Given the description of an element on the screen output the (x, y) to click on. 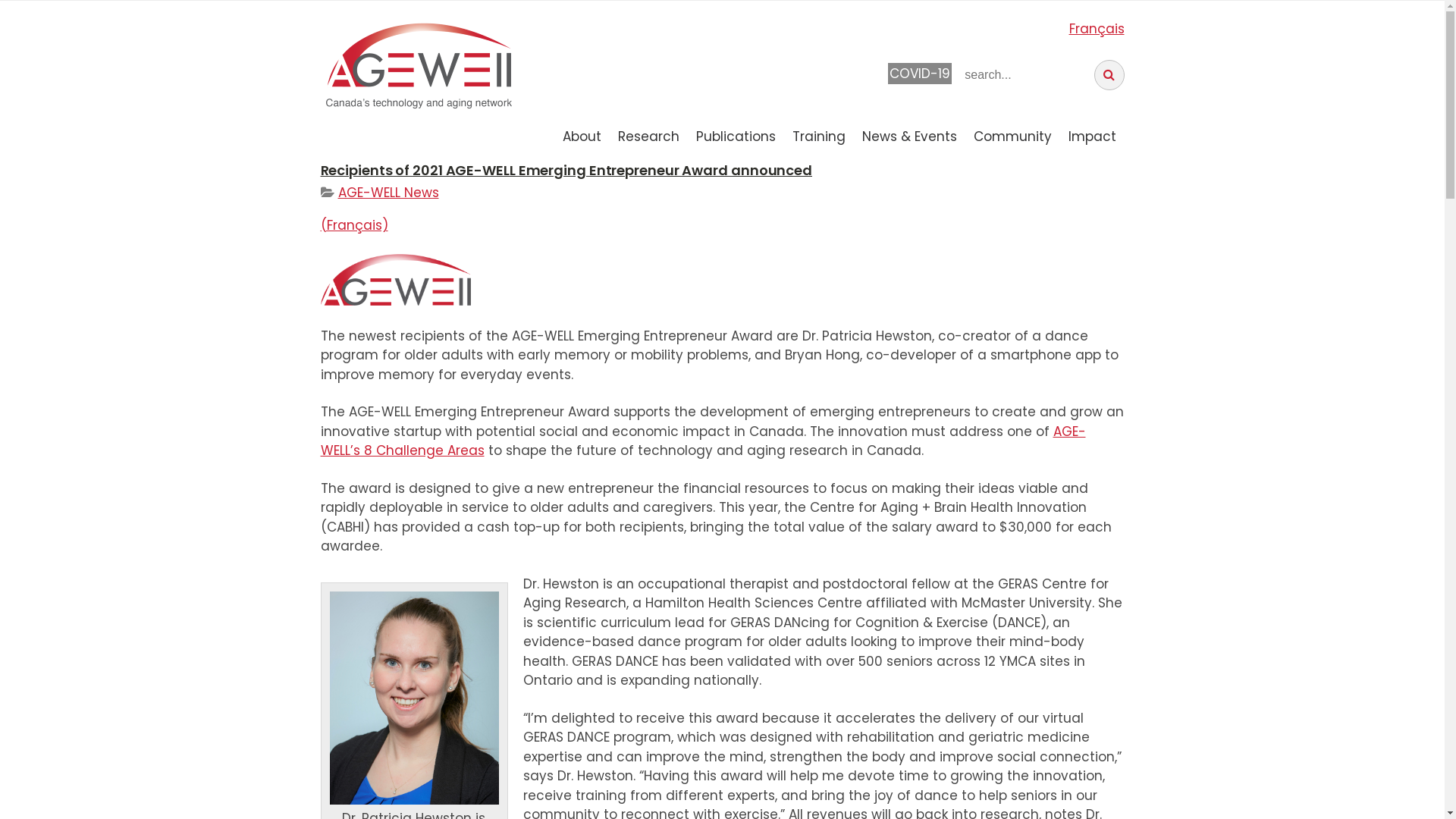
Research Element type: text (647, 134)
AGE-WELL News Element type: text (388, 192)
About Element type: text (581, 134)
News & Events Element type: text (908, 134)
COVID-19 Element type: text (919, 73)
Publications Element type: text (735, 134)
Training Element type: text (818, 134)
Community Element type: text (1012, 134)
Impact Element type: text (1091, 134)
AGE-WELL Element type: hover (721, 67)
AGE-WELL Element type: hover (418, 64)
